Given the description of an element on the screen output the (x, y) to click on. 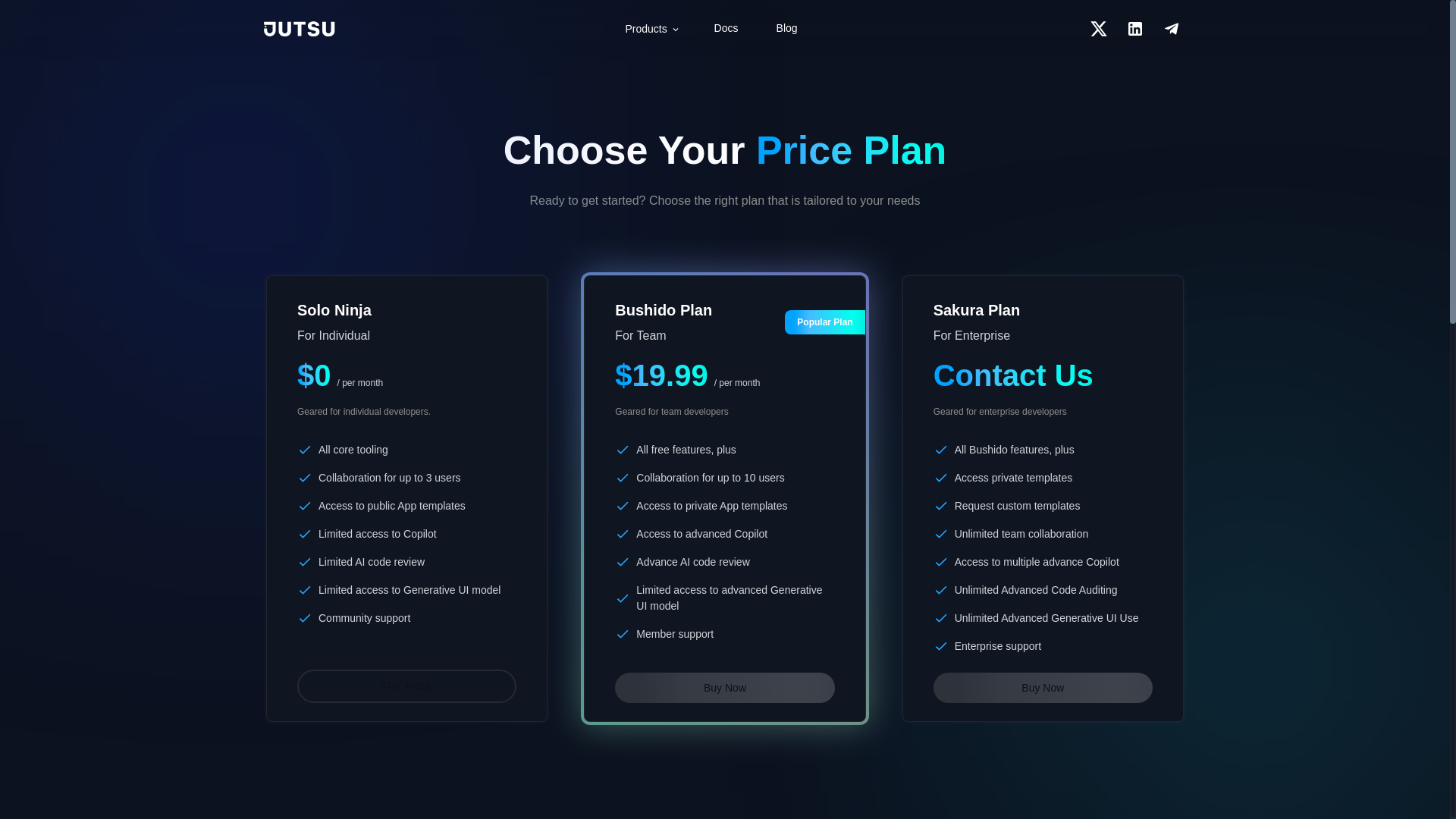
Docs (726, 28)
TRY FREE (406, 686)
Buy Now (1043, 687)
Buy Now (724, 687)
Blog (786, 28)
